Given the description of an element on the screen output the (x, y) to click on. 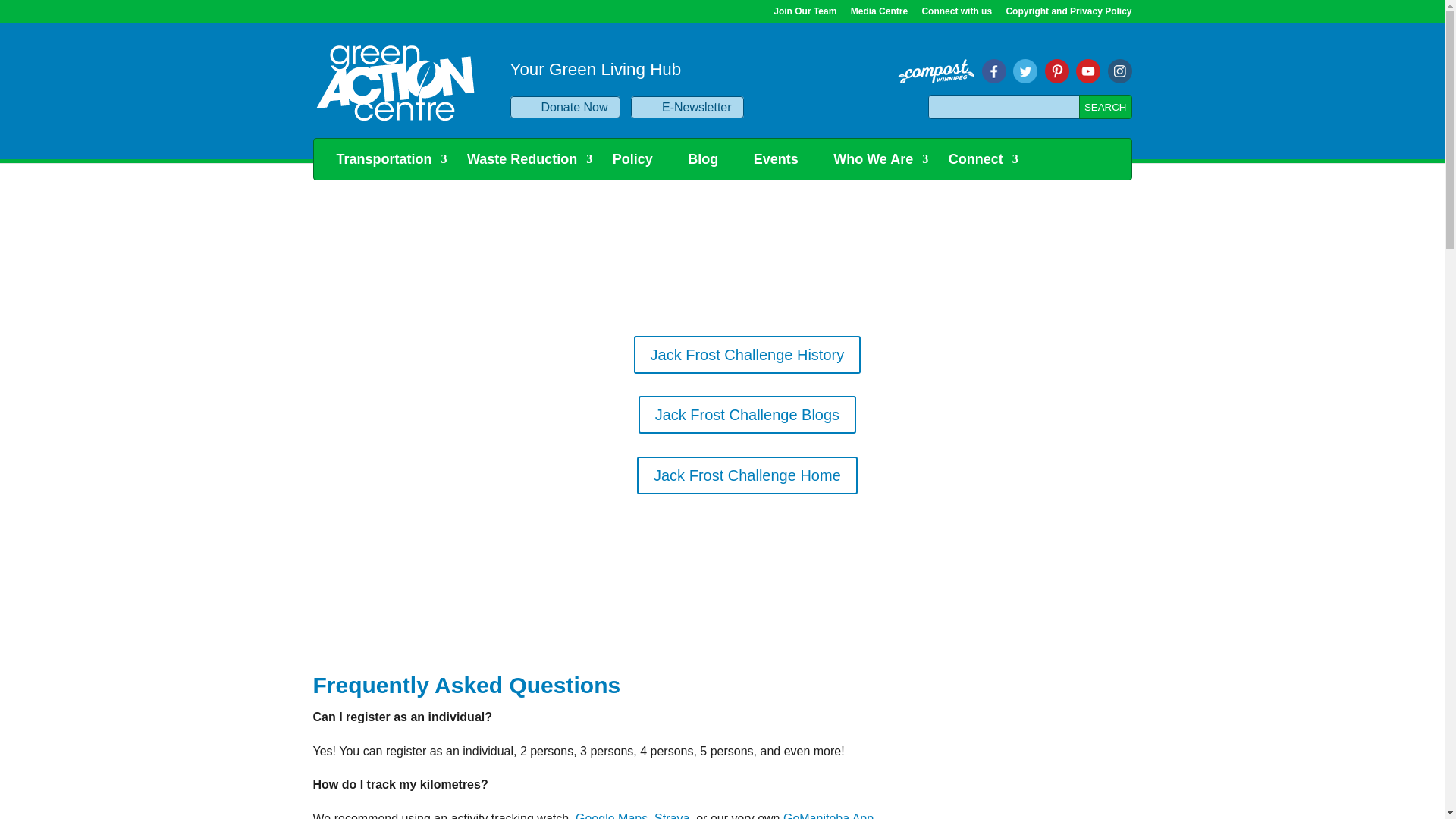
Policy (640, 158)
Donate Now (564, 106)
Search (1105, 106)
YouTube (1118, 69)
Blog (710, 158)
Pinterest (1056, 69)
Search (1105, 106)
Media Centre (878, 14)
Search (1105, 106)
E-Newsletter (687, 106)
